Given the description of an element on the screen output the (x, y) to click on. 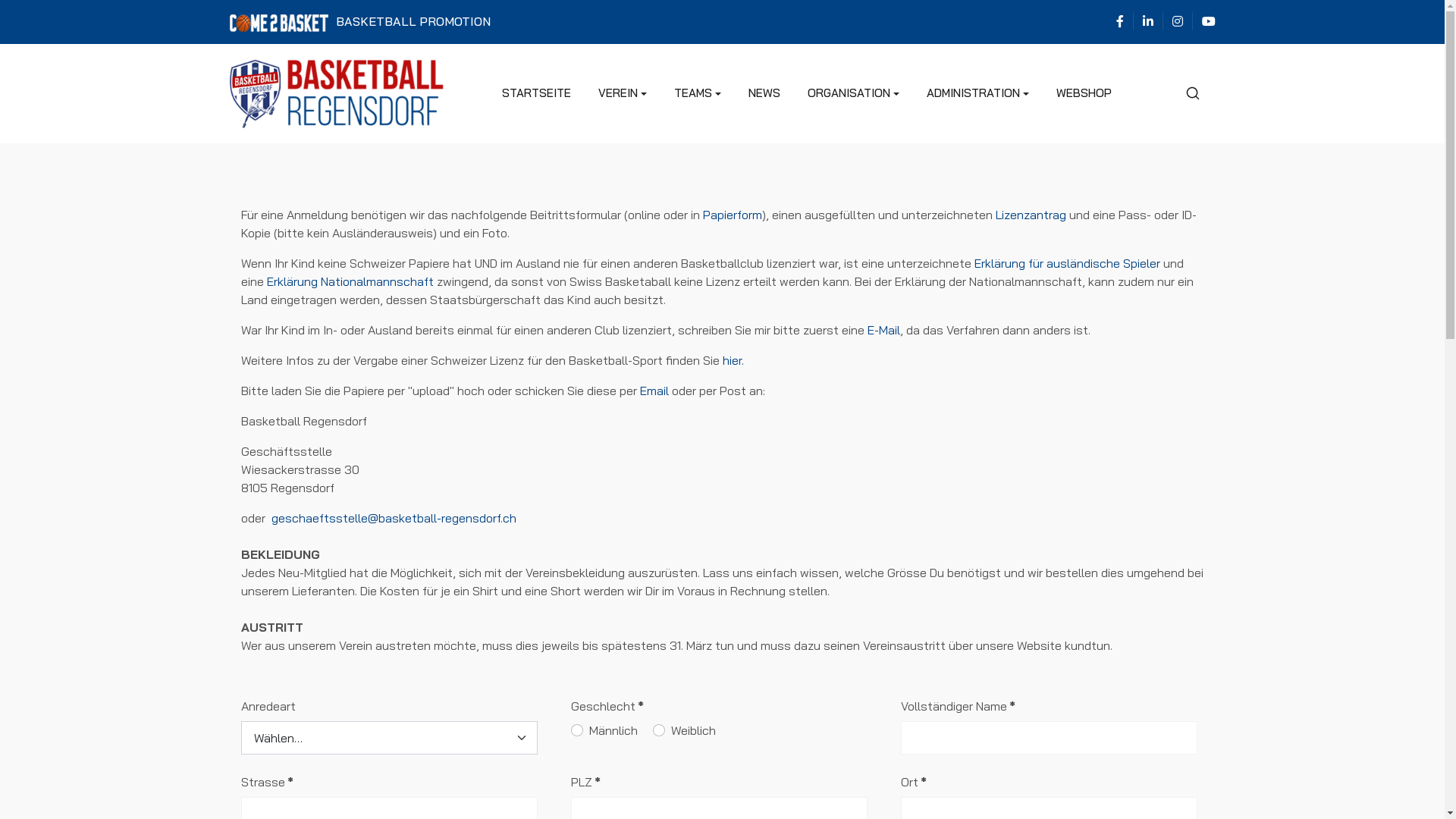
geschaeftsstelle@basketball-regensdorf.ch Element type: text (393, 517)
Papierform Element type: text (731, 214)
BASKETBALL PROMOTION Element type: text (359, 21)
ADMINISTRATION Element type: text (977, 92)
NEWS Element type: text (763, 92)
Lizenzantrag Element type: text (1029, 214)
LinkedIn Element type: hover (1147, 20)
VEREIN Element type: text (622, 92)
Email Element type: text (654, 390)
Facebook Element type: hover (1119, 20)
WEBSHOP Element type: text (1083, 92)
Youtube Element type: hover (1207, 20)
hier. Element type: text (732, 359)
ORGANISATION Element type: text (853, 92)
Basketball Regensdorf Element type: hover (335, 93)
E-Mail Element type: text (883, 329)
STARTSEITE Element type: text (536, 92)
TEAMS Element type: text (697, 92)
Instagram Element type: hover (1177, 20)
